Given the description of an element on the screen output the (x, y) to click on. 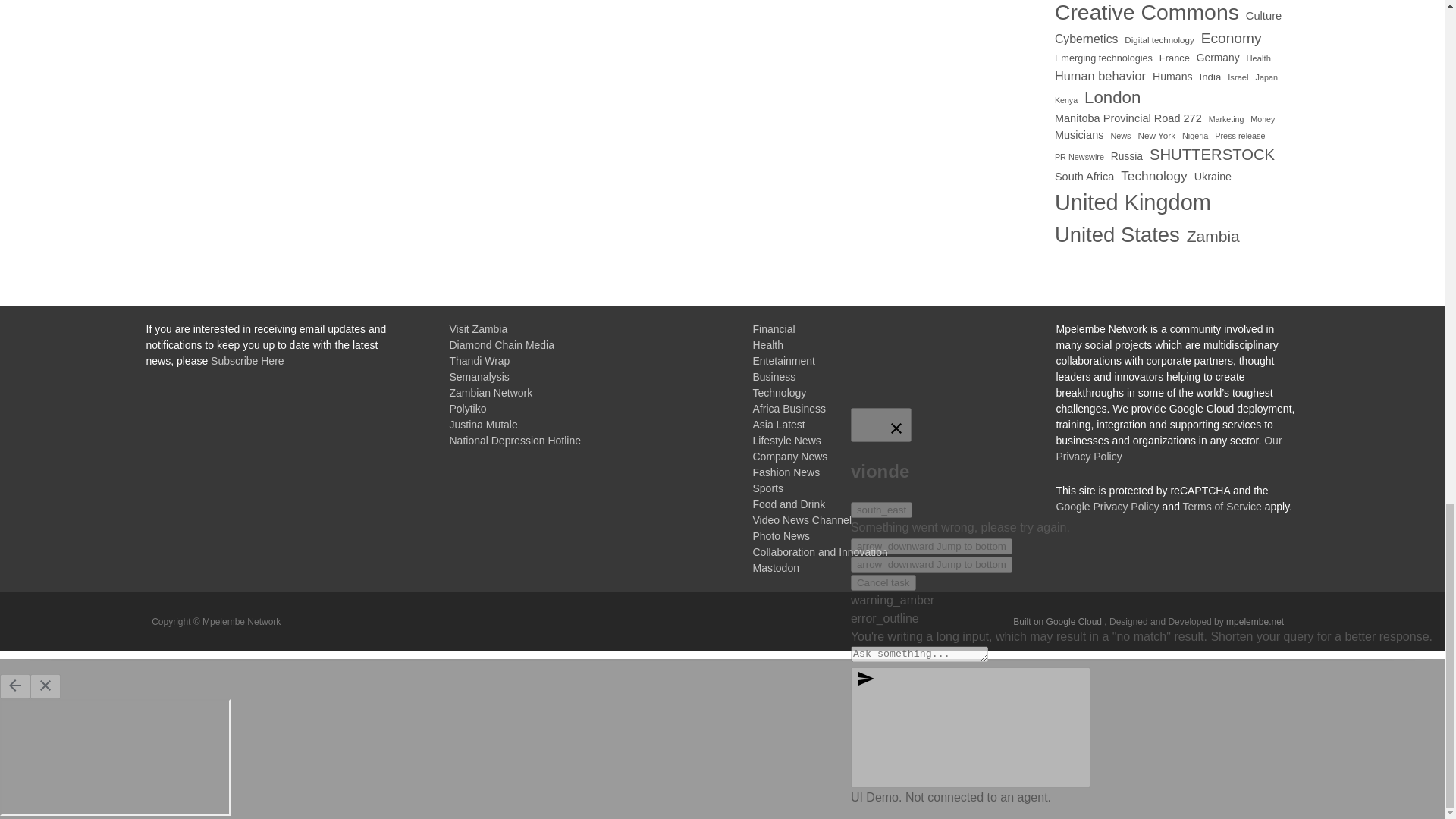
Semantic Personal Publishing Platform (1058, 621)
